Given the description of an element on the screen output the (x, y) to click on. 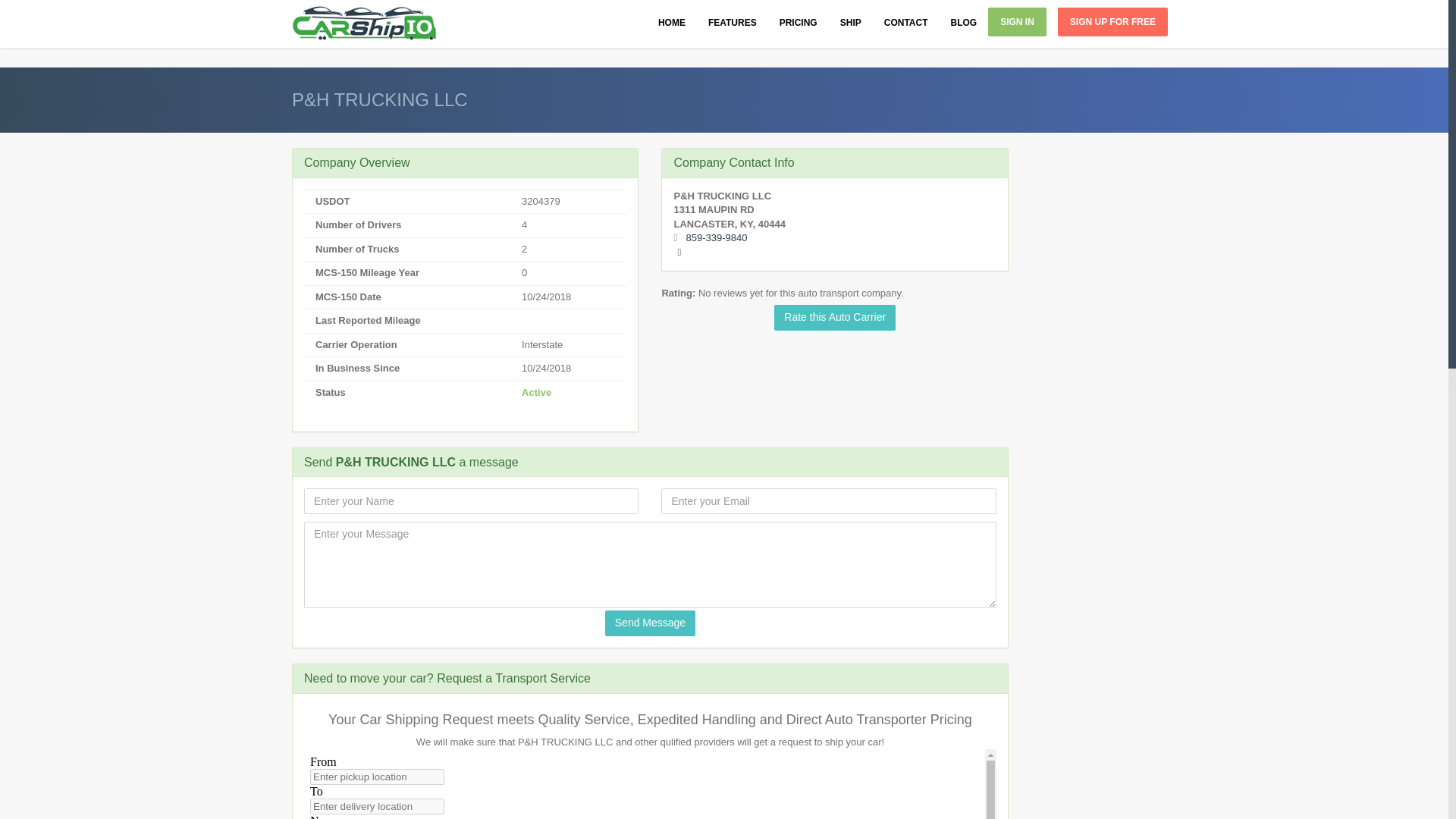
Features and Solutions (732, 22)
859-339-9840 (715, 237)
Plans and Pricing for CarshipIO Auto Carrier Software Tools (798, 22)
HOME (671, 22)
Contact Us (905, 22)
SHIP (850, 22)
CarShipIO Auto Transport Platform Blog (963, 22)
Sign In (1017, 21)
FEATURES (732, 22)
Sign Up for CaShipIO Auto Carrier Tools (1112, 21)
CONTACT (905, 22)
SIGN UP FOR FREE (1112, 21)
CarShipIO home (671, 22)
SIGN IN (1017, 21)
Rate this Auto Carrier (834, 317)
